Given the description of an element on the screen output the (x, y) to click on. 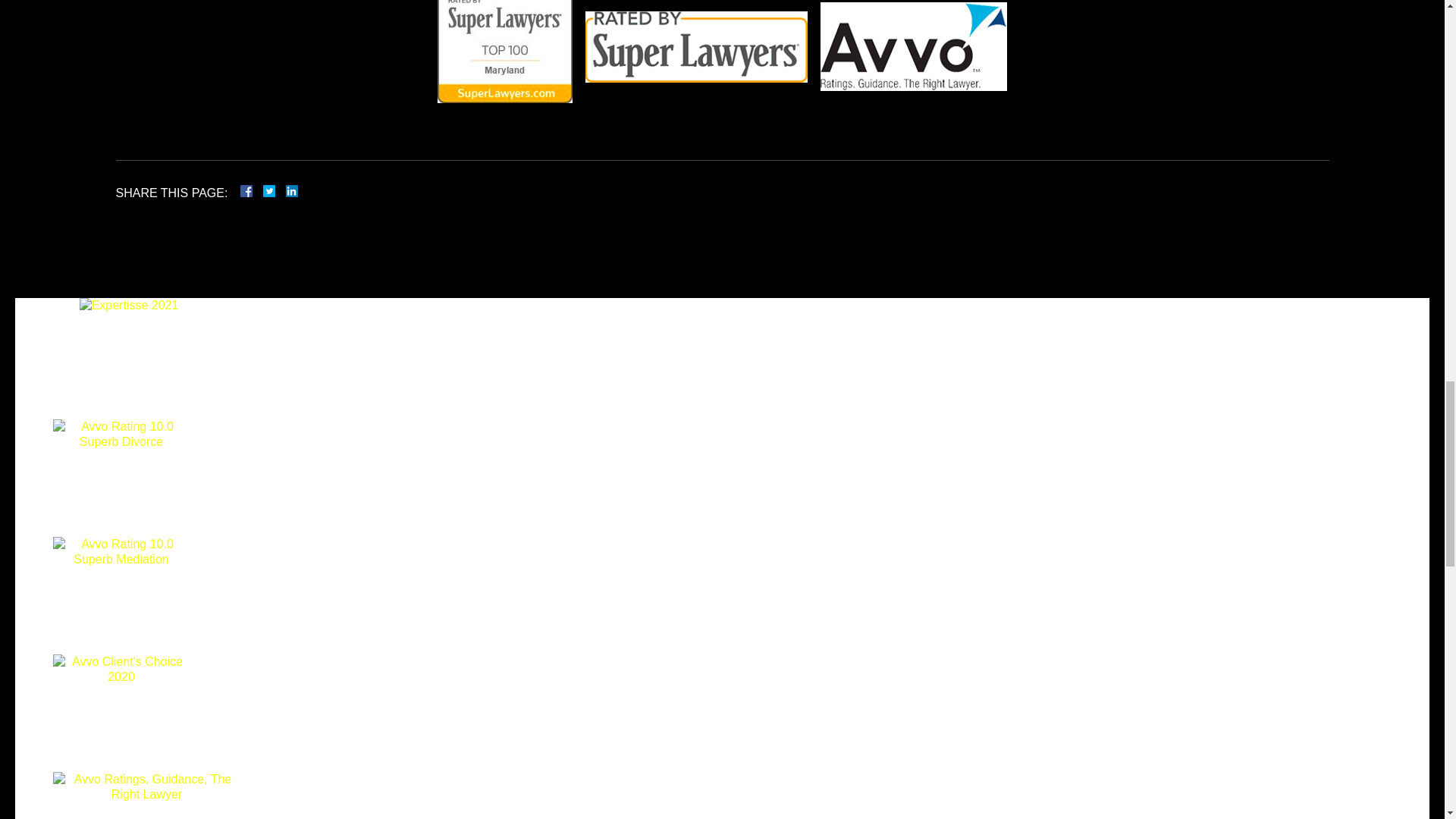
Twitter (274, 191)
LinkedIn (286, 191)
Facebook (264, 191)
